Given the description of an element on the screen output the (x, y) to click on. 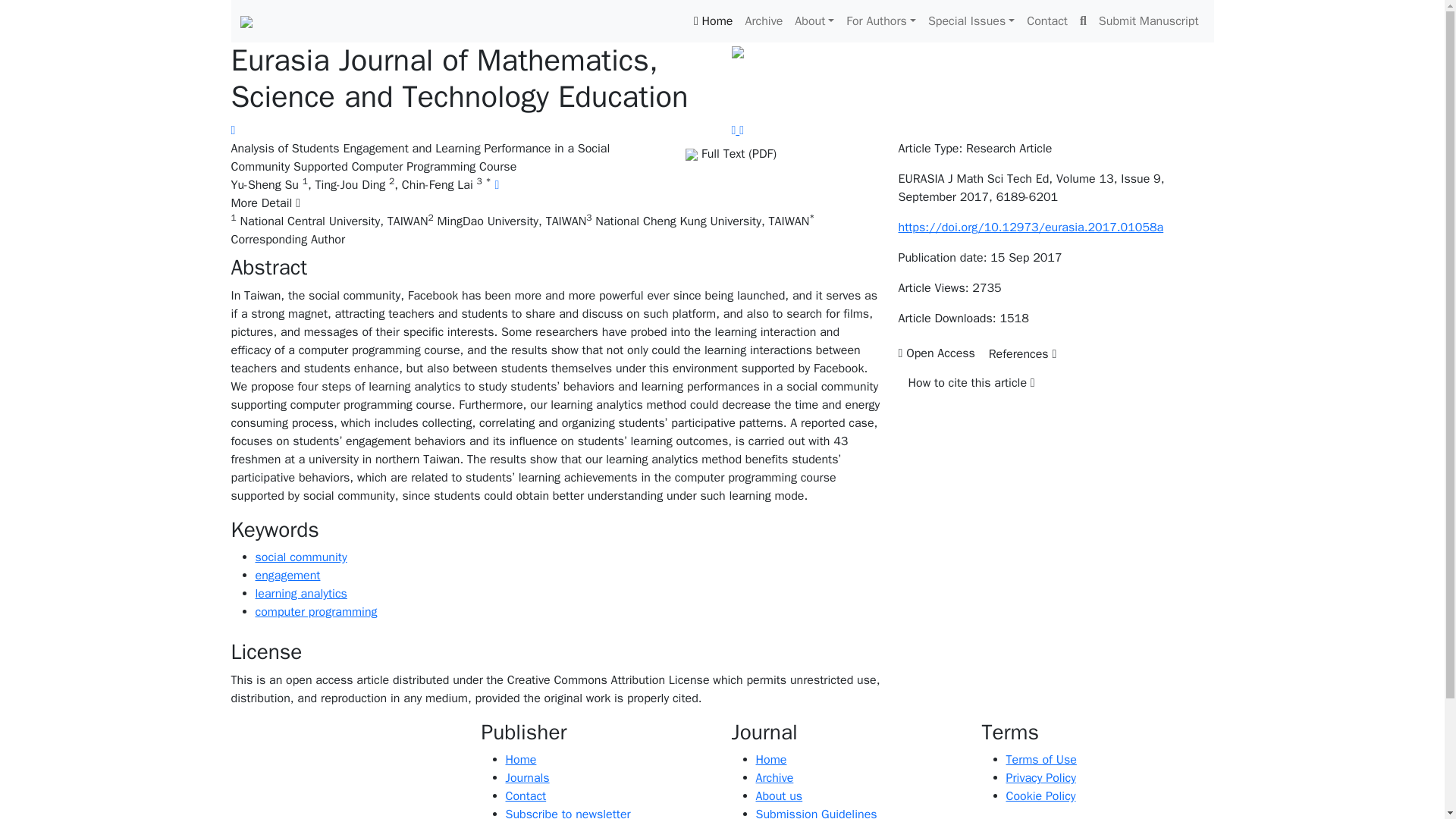
About (814, 20)
engagement (287, 575)
Submit Manuscript (1149, 20)
Home (713, 20)
Special Issues (970, 20)
Archive (763, 20)
learning analytics (300, 593)
For Authors (880, 20)
Contact (1047, 20)
computer programming (315, 611)
